Given the description of an element on the screen output the (x, y) to click on. 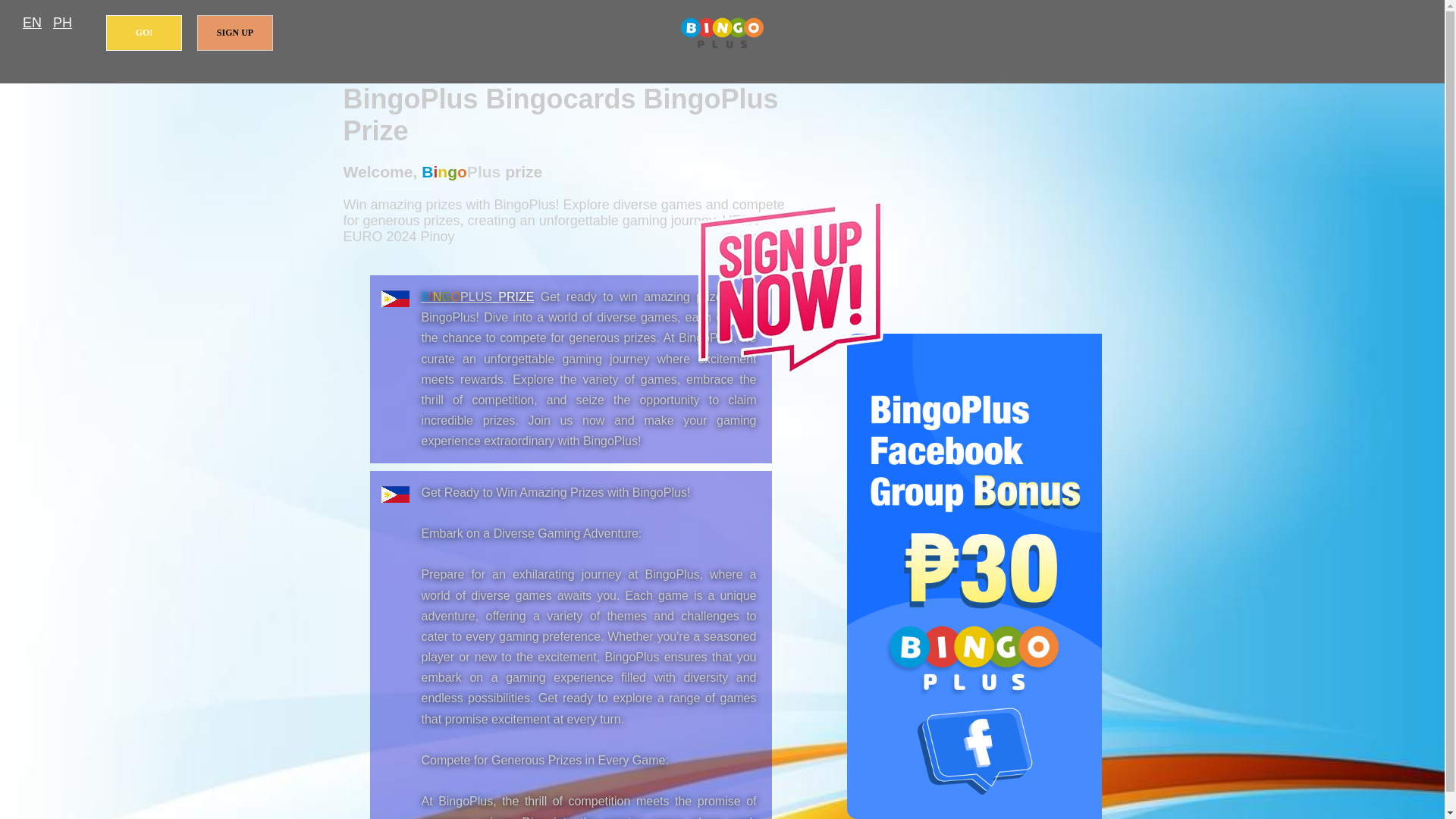
PH (61, 23)
BINGOPLUS PRIZE (478, 296)
English - Filipino (32, 23)
GO! (144, 32)
BingoPlus prize (721, 32)
SIGN UP (234, 32)
EN (32, 23)
Pilipinas - Filipino (61, 23)
BingoPlus prize (478, 296)
